Given the description of an element on the screen output the (x, y) to click on. 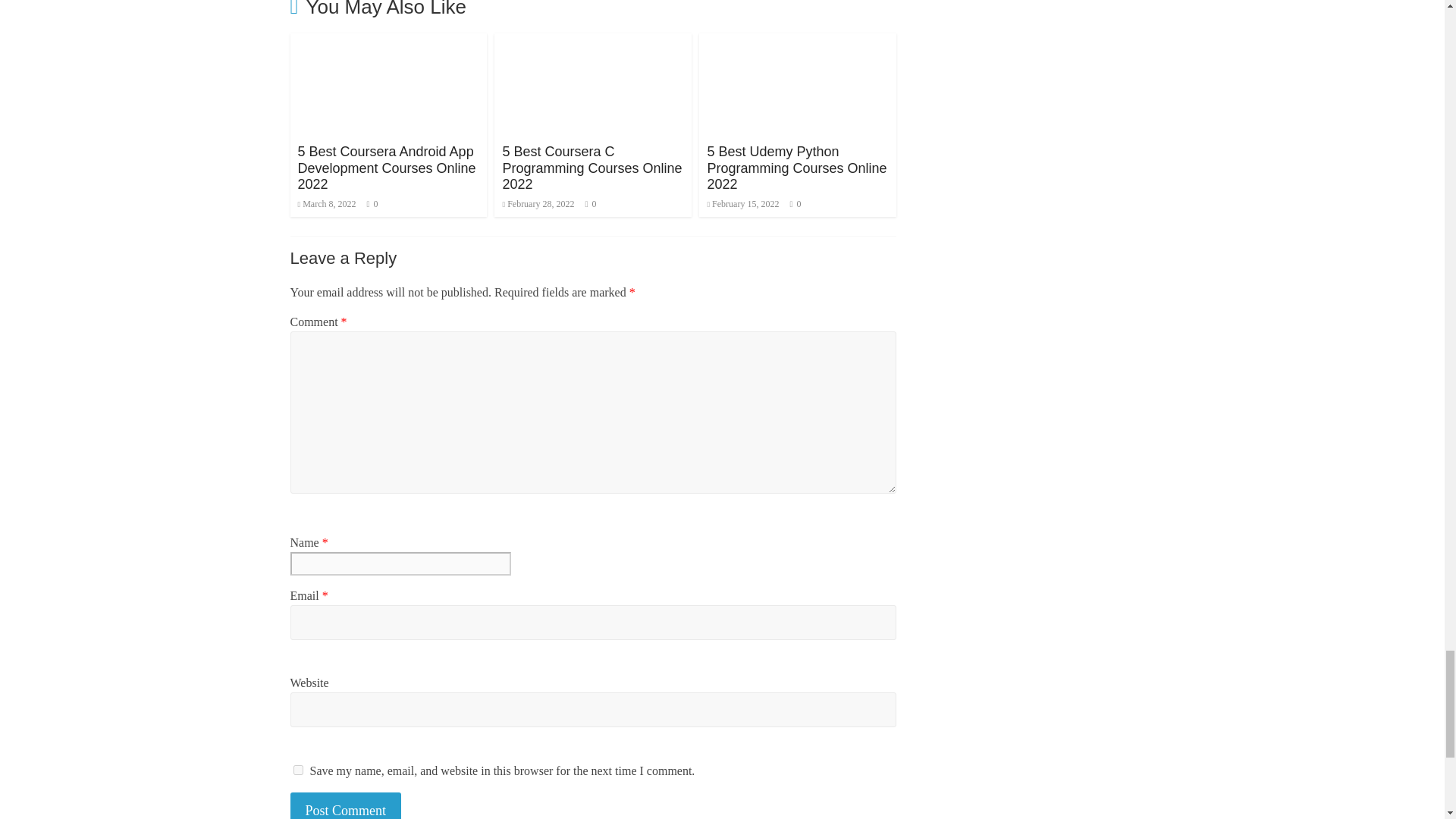
12:21 PM (742, 204)
5 Best Coursera C Programming Courses  Online 2022 (591, 167)
5 Best Coursera Android App Development Courses Online 2022 (386, 167)
5 Best Udemy Python Programming Courses Online 2022 (796, 167)
12:41 AM (326, 204)
12:24 PM (537, 204)
Post Comment (345, 805)
5 Best Udemy Python Programming Courses Online 2022 (797, 42)
yes (297, 769)
5 Best Coursera Android App Development Courses Online 2022 (387, 42)
